Given the description of an element on the screen output the (x, y) to click on. 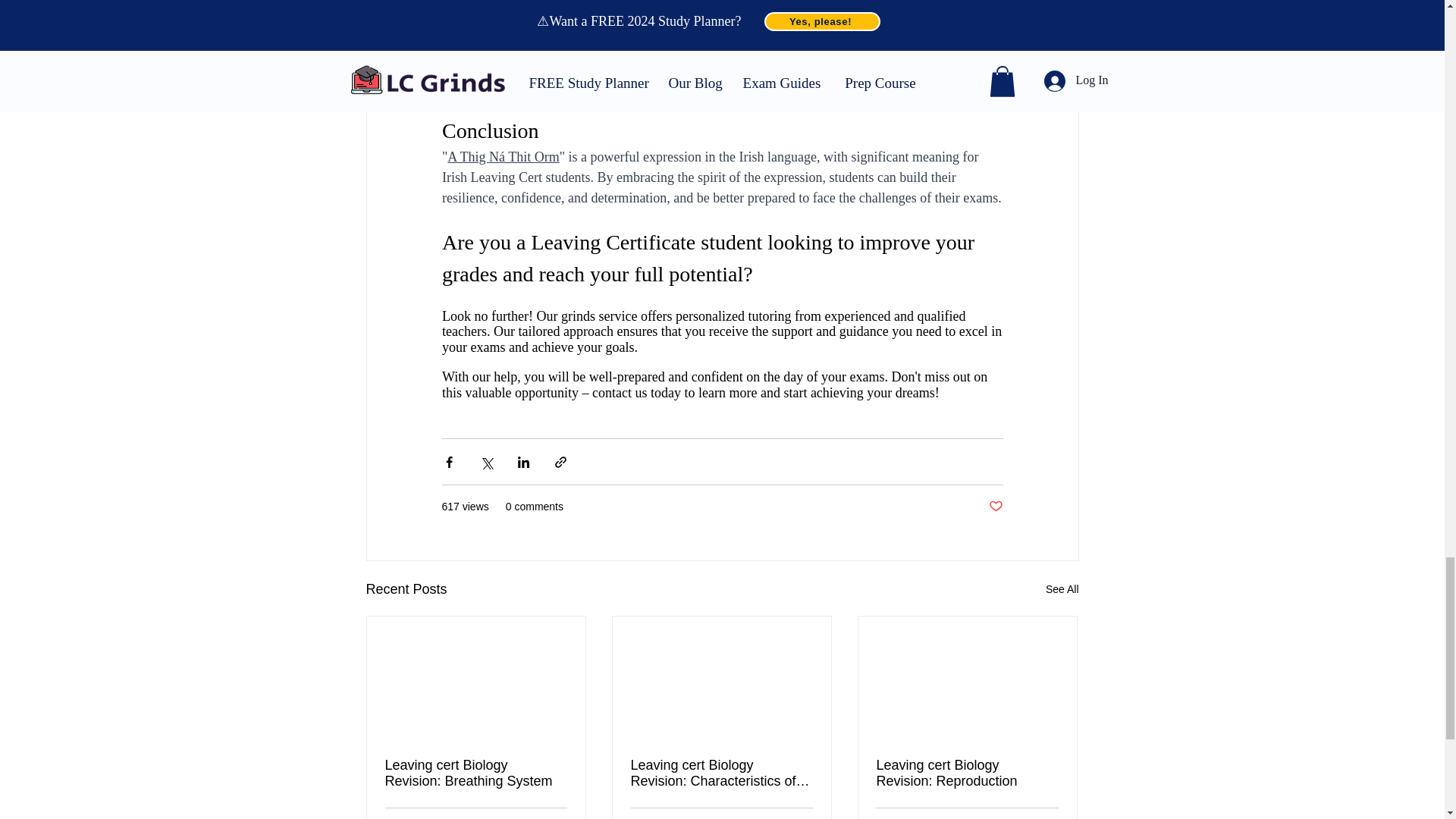
Leaving cert Biology Revision: Breathing System (476, 773)
Leaving cert Biology Revision: Characteristics of Life (721, 773)
Post not marked as liked (995, 506)
See All (1061, 589)
